Given the description of an element on the screen output the (x, y) to click on. 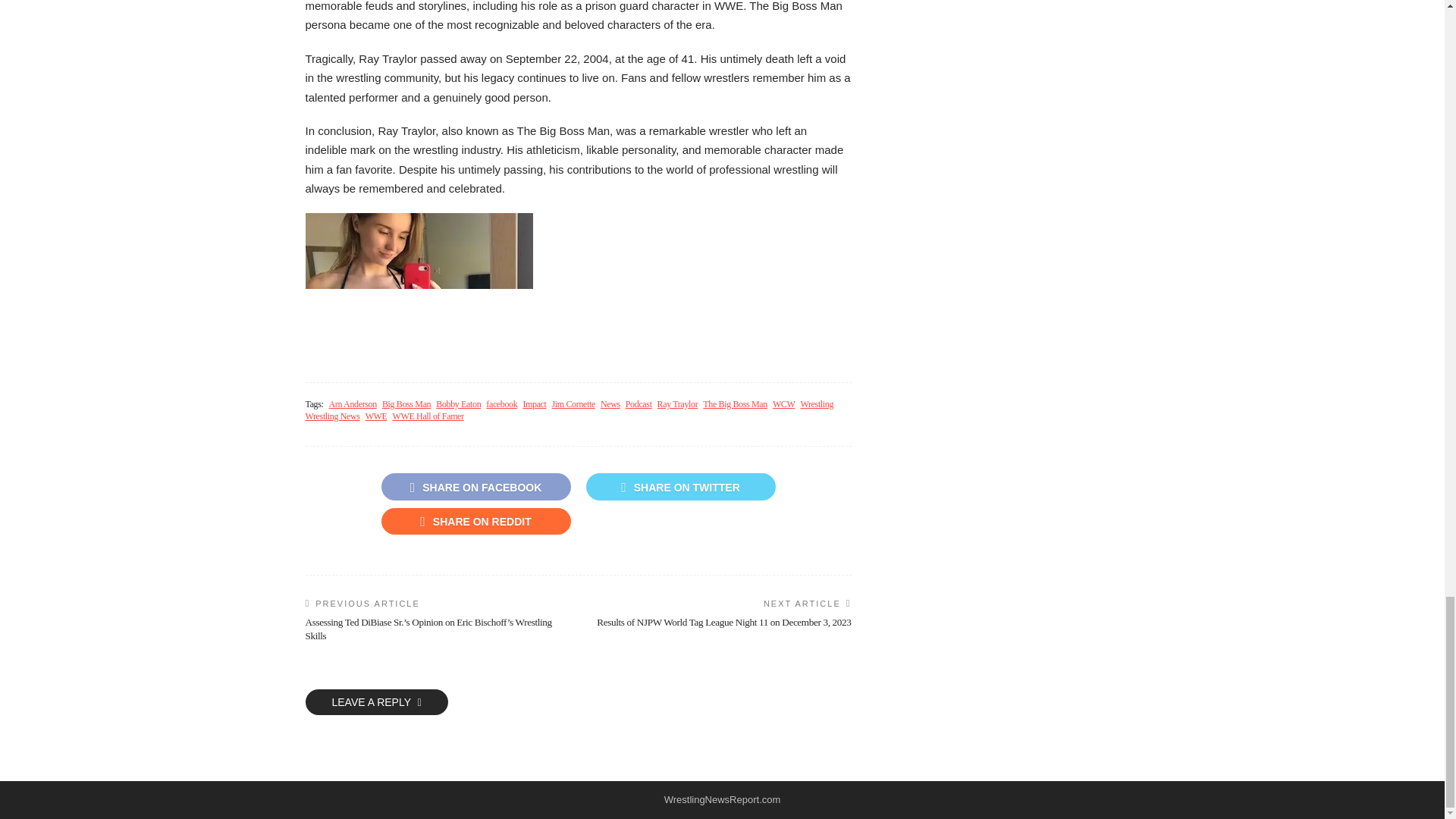
Jim Cornette (573, 404)
WCW (783, 404)
Impact (534, 404)
Wrestling News (331, 416)
The Big Boss Man (735, 404)
The Big Boss Man (735, 404)
Impact (534, 404)
facebook (501, 404)
Podcast (639, 404)
Podcast (639, 404)
